Given the description of an element on the screen output the (x, y) to click on. 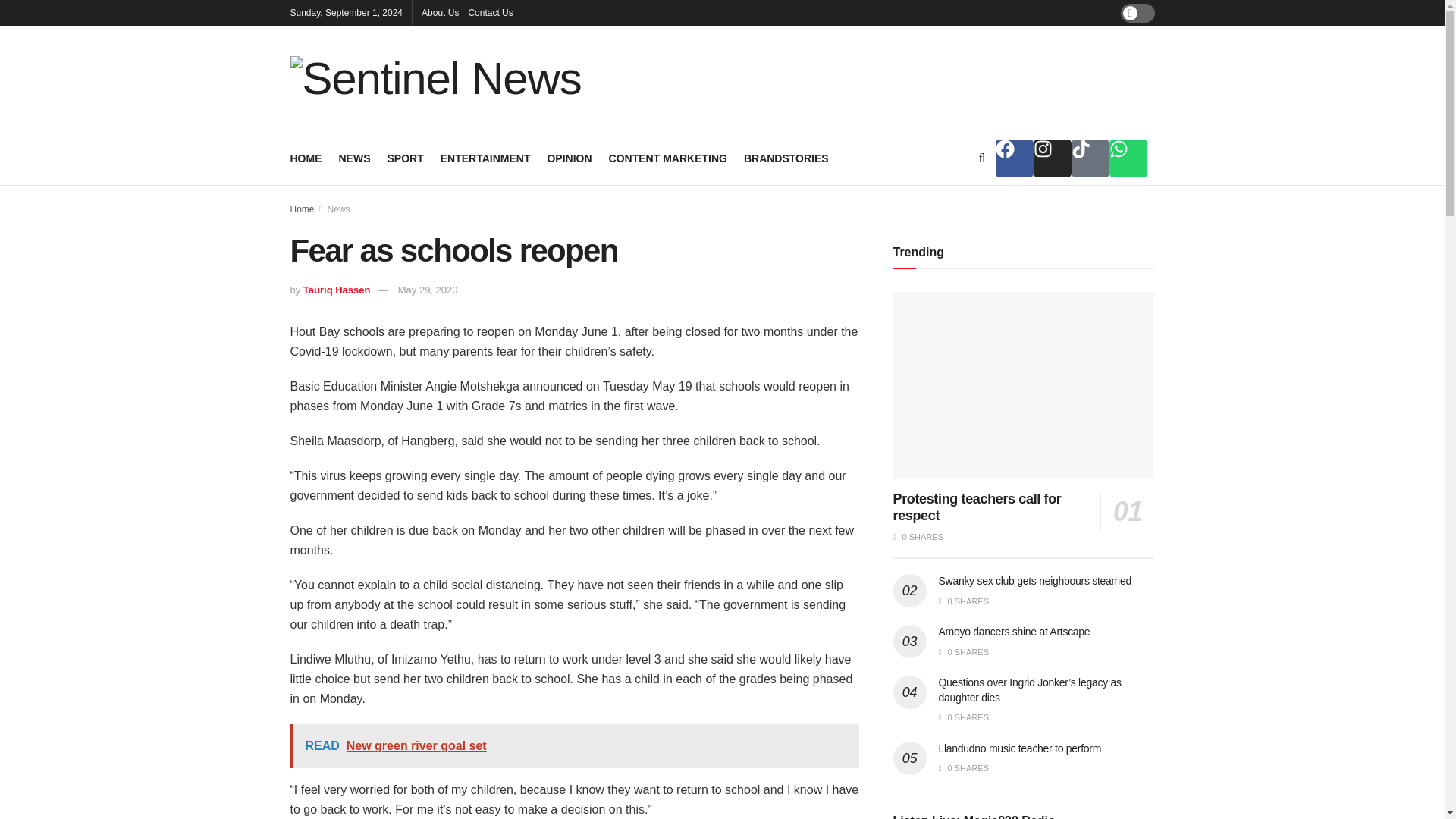
Home (301, 208)
ENTERTAINMENT (486, 158)
NEWS (353, 158)
READ  New green river goal set (574, 745)
BRANDSTORIES (786, 158)
CONTENT MARKETING (667, 158)
Tauriq Hassen (336, 289)
News (338, 208)
Contact Us (489, 12)
May 29, 2020 (427, 289)
